Given the description of an element on the screen output the (x, y) to click on. 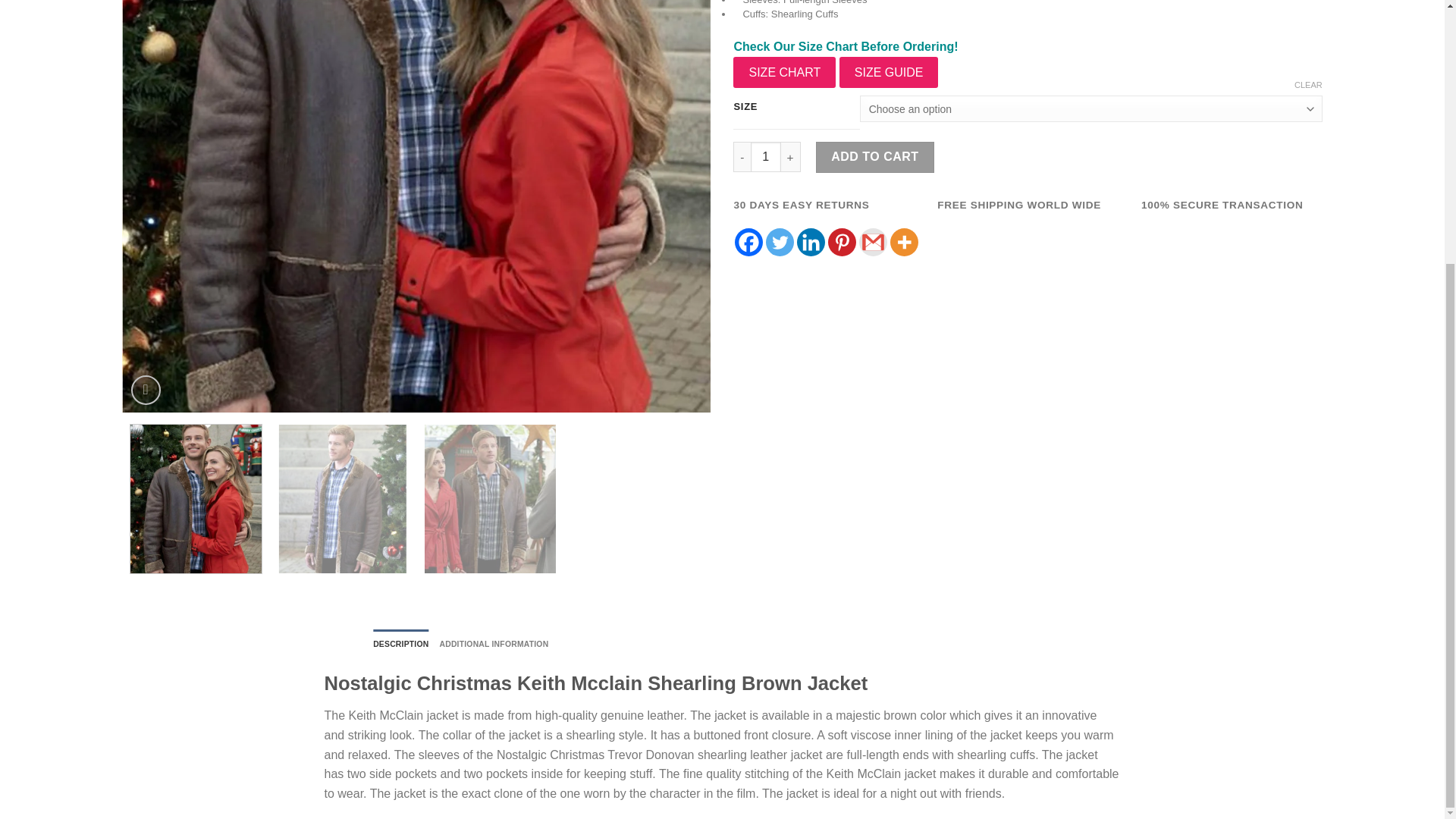
1 (765, 156)
SIZE CHART (784, 72)
CLEAR (1308, 84)
SIZE GUIDE (889, 72)
- (741, 156)
Zoom (145, 389)
